Given the description of an element on the screen output the (x, y) to click on. 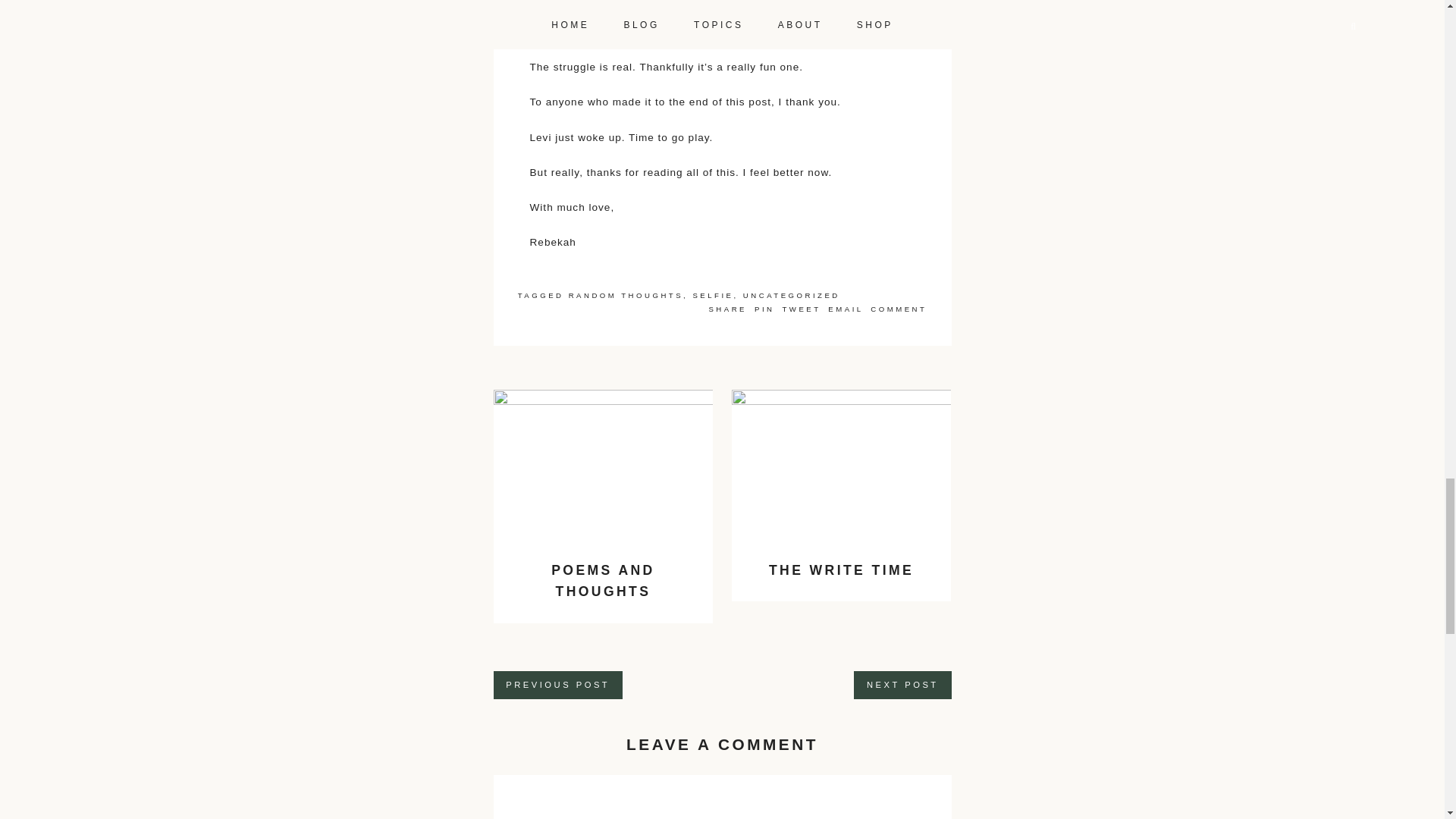
COMMENT (897, 308)
The Write Time (842, 465)
TWEET (803, 308)
UNCATEGORIZED (791, 295)
EMAIL (848, 308)
Poems and Thoughts (603, 580)
PIN (766, 308)
The Write Time (841, 570)
SHARE (730, 308)
Twitter (803, 308)
SELFIE (713, 295)
Poems and Thoughts (603, 465)
Facebook (730, 308)
RANDOM THOUGHTS (625, 295)
